Given the description of an element on the screen output the (x, y) to click on. 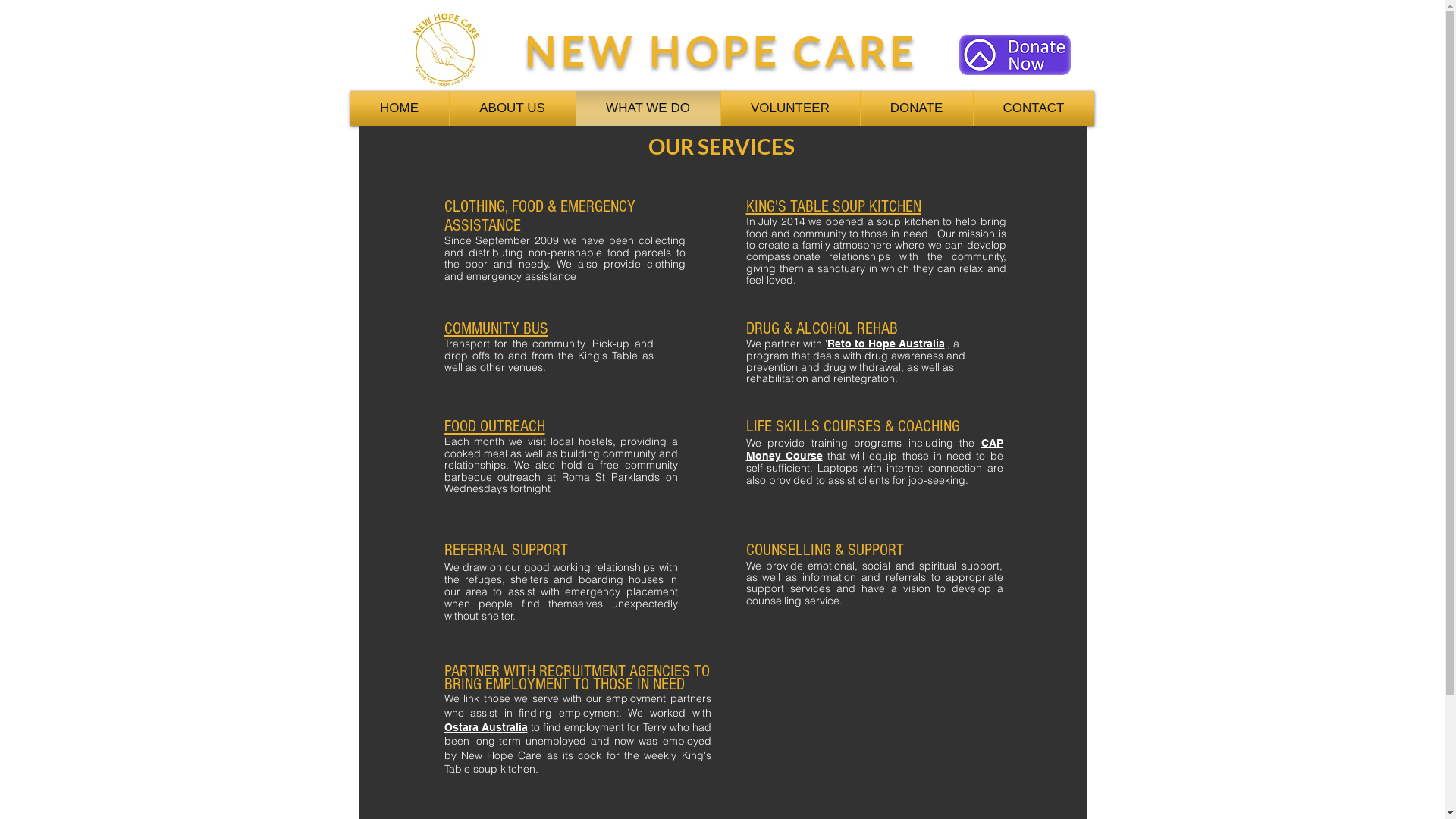
Reto to Hope Australia Element type: text (885, 343)
WHAT WE DO Element type: text (647, 108)
ABOUT US Element type: text (512, 108)
KING'S TABLE SOUP KITCHEN Element type: text (833, 205)
COMMUNITY BUS Element type: text (496, 328)
FOOD OUTREACH Element type: text (494, 425)
HOME Element type: text (398, 108)
DONATE Element type: text (916, 108)
CONTACT Element type: text (1032, 108)
Ostara Australia Element type: text (485, 727)
VOLUNTEER Element type: text (790, 108)
CAP Money Course Element type: text (874, 448)
